Given the description of an element on the screen output the (x, y) to click on. 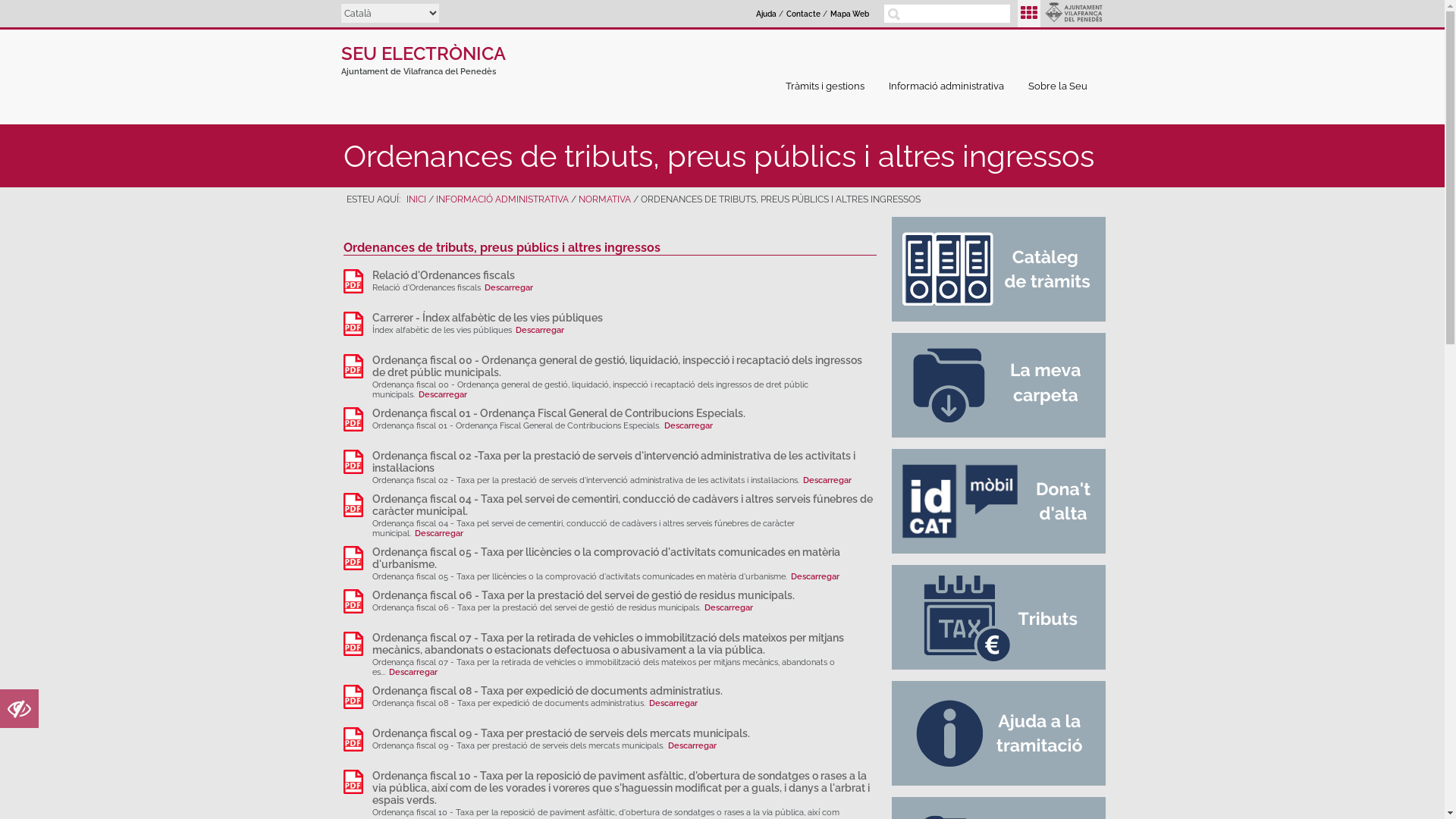
NORMATIVA Element type: text (603, 199)
Accessibilitat Element type: hover (19, 712)
Ajuda Element type: hover (999, 732)
INICI Element type: text (416, 199)
La meva carpeta Element type: hover (999, 384)
Sobre la Seu Element type: text (1061, 85)
Mapa Web Element type: text (849, 14)
Tributs Element type: hover (999, 616)
Ajuda Element type: text (766, 14)
Contacte Element type: text (803, 14)
